Given the description of an element on the screen output the (x, y) to click on. 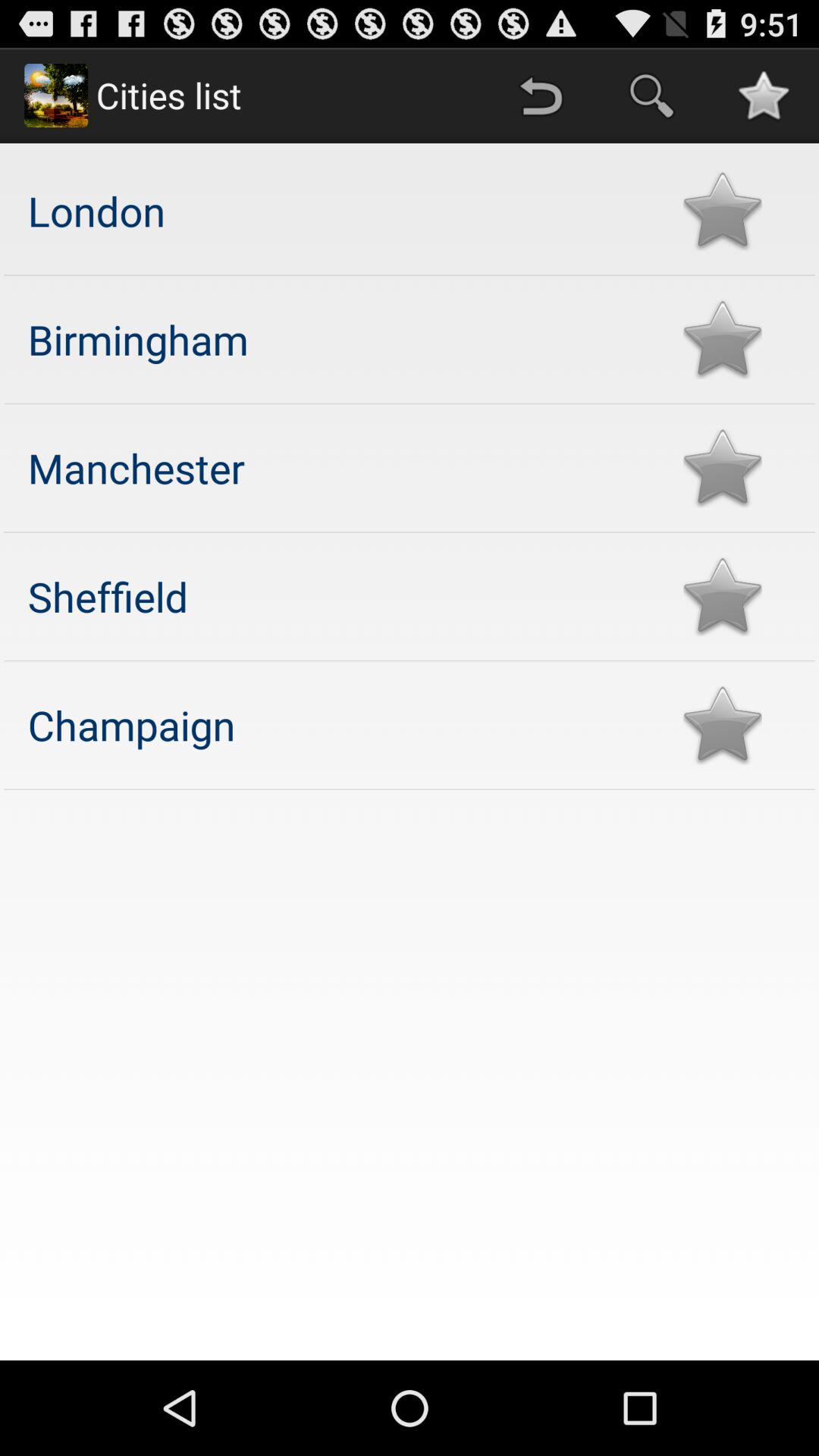
jump to manchester icon (340, 467)
